Given the description of an element on the screen output the (x, y) to click on. 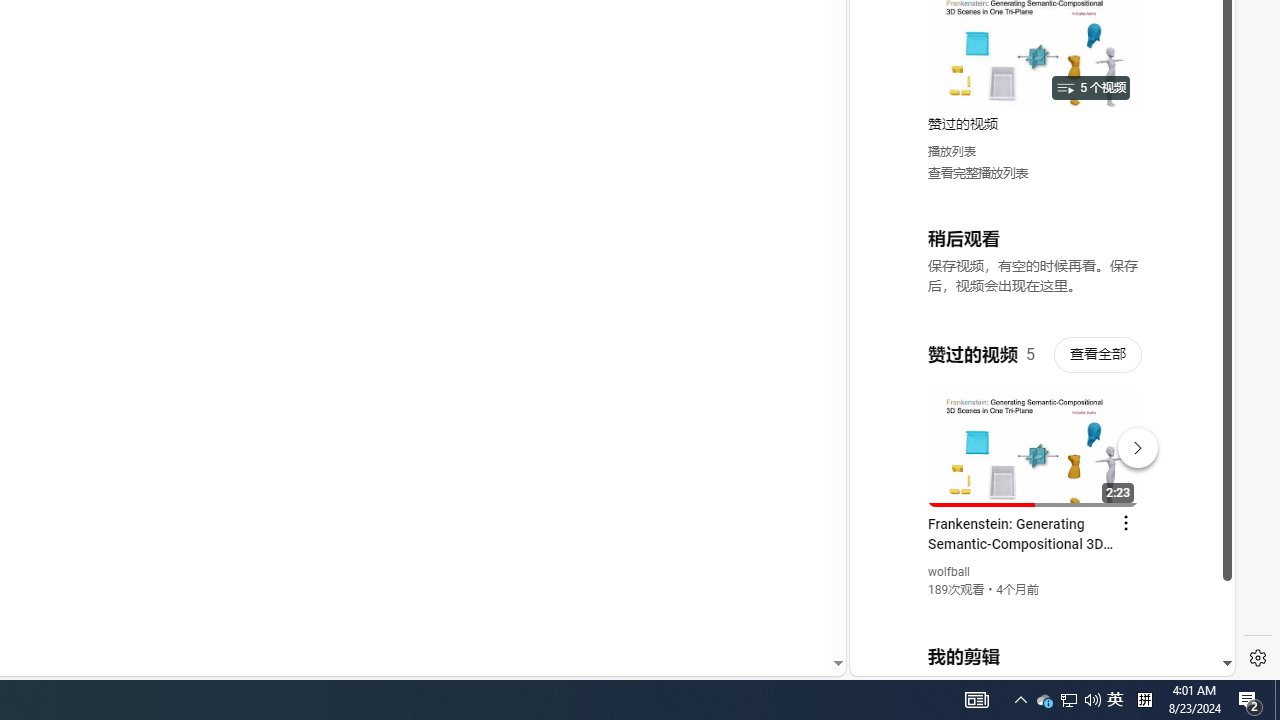
you (1034, 609)
Settings (1258, 658)
wolfball (949, 572)
Search more (792, 604)
#you (1034, 439)
